Given the description of an element on the screen output the (x, y) to click on. 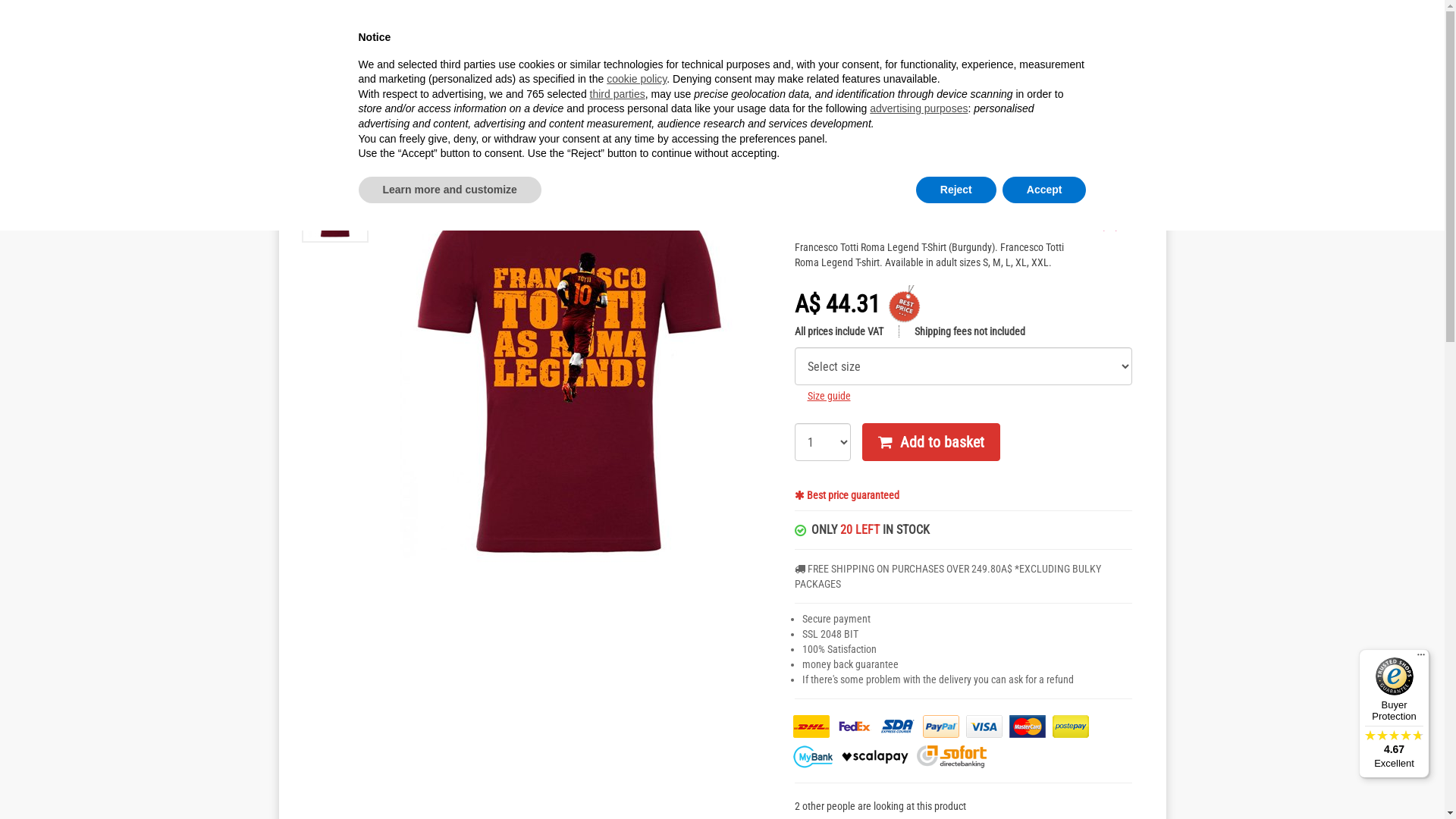
ALTERNATIVE CLOTHING Element type: text (892, 116)
CINEMA & TV Element type: text (521, 117)
advertising purposes Element type: text (918, 108)
BASKET Element type: text (1108, 63)
WISHLIST Element type: text (1016, 63)
VIDEOGAMES Element type: text (707, 117)
cookie policy Element type: text (636, 78)
Reject Element type: text (956, 189)
AS Roma Element type: text (481, 147)
third parties Element type: text (617, 93)
Sign up now Element type: text (339, 13)
Football Element type: text (429, 147)
MerchandisingPlaza Element type: hover (411, 61)
Merchandising Element type: text (320, 147)
Register Element type: hover (306, 13)
Sign in Element type: text (402, 13)
Best price guaranteed Element type: text (852, 495)
Size guide Element type: text (828, 395)
Buy now Francesco Totti Roma Legend T-Shirt (Burgundy) Element type: hover (335, 208)
SPORTS Element type: text (335, 117)
Accept Element type: text (1044, 189)
MUSIC Element type: text (429, 117)
Australia Element type: text (1110, 12)
A$ AUD Element type: text (1001, 12)
Buy now Francesco Totti Roma Legend T-Shirt (Burgundy) Element type: hover (569, 368)
COMICS AND CARTOONS Element type: text (614, 116)
Sports Element type: text (381, 147)
Learn more and customize Element type: text (448, 189)
CULT Element type: text (799, 117)
Add to basket Element type: text (931, 442)
Login Element type: hover (380, 13)
